Given the description of an element on the screen output the (x, y) to click on. 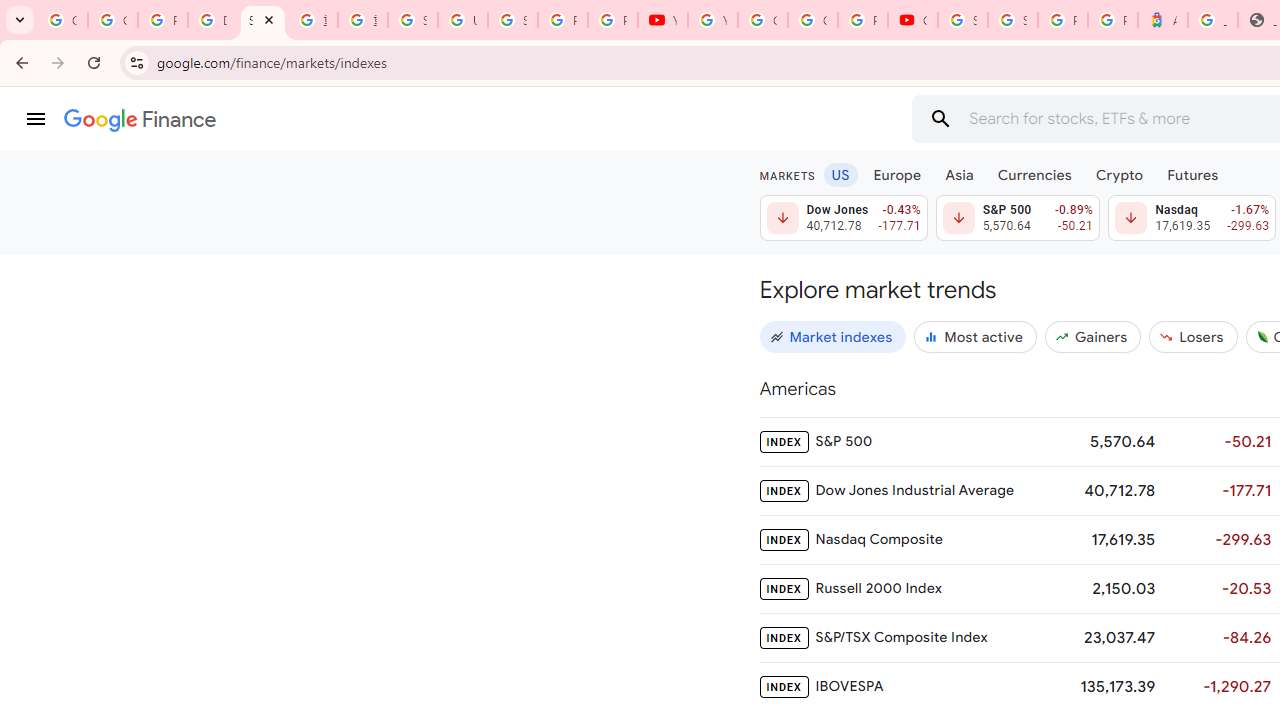
Sign in - Google Accounts (963, 20)
Google Account Help (763, 20)
